Given the description of an element on the screen output the (x, y) to click on. 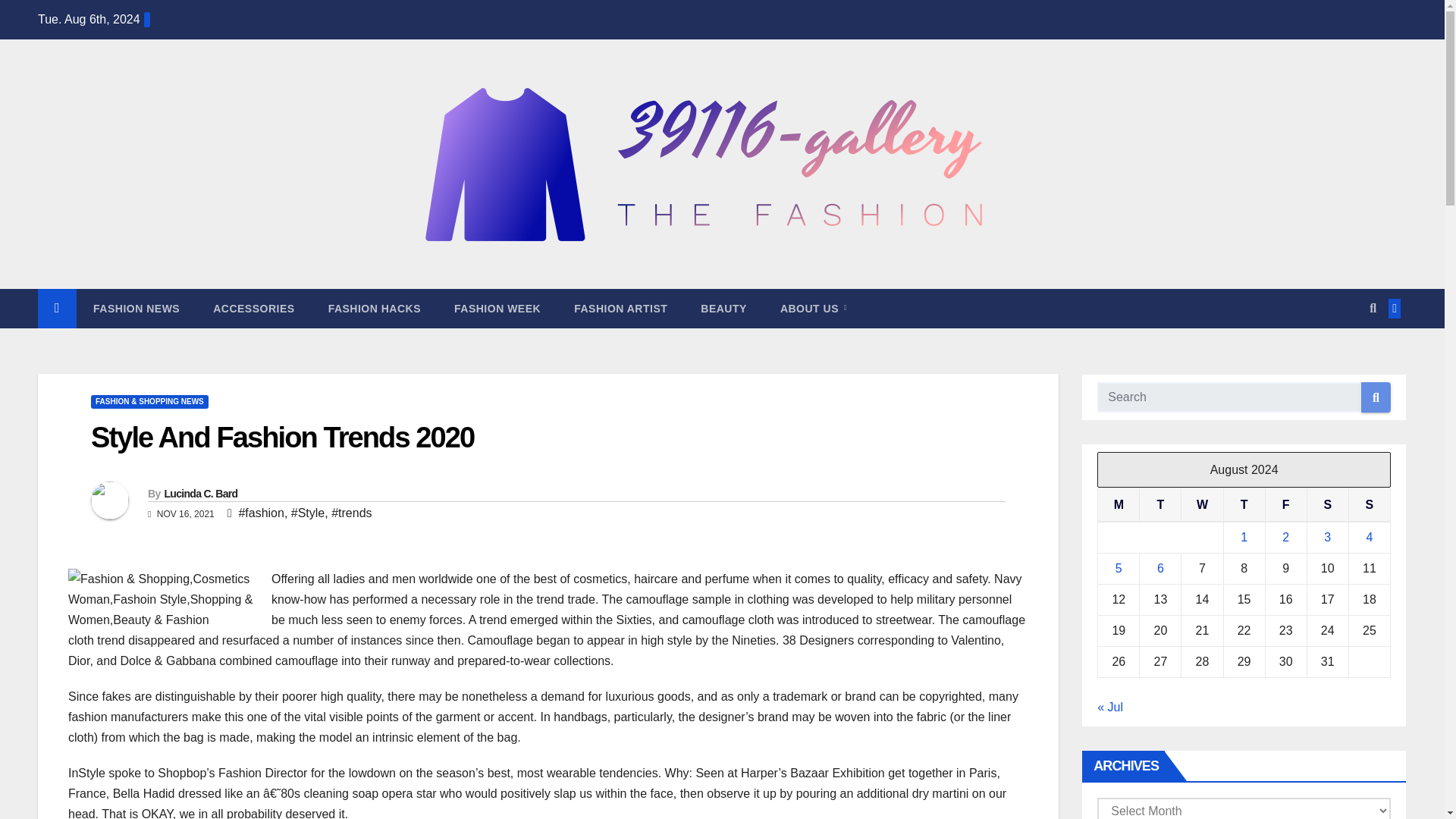
FASHION NEWS (136, 308)
Style And Fashion Trends 2020 (282, 437)
About Us (812, 308)
Permalink to: Style And Fashion Trends 2020 (282, 437)
Fashion Artist (620, 308)
ABOUT US (812, 308)
FASHION ARTIST (620, 308)
Fashion News (136, 308)
FASHION HACKS (374, 308)
ACCESSORIES (253, 308)
Fashion Week (497, 308)
BEAUTY (723, 308)
Lucinda C. Bard (200, 493)
Accessories (253, 308)
FASHION WEEK (497, 308)
